Given the description of an element on the screen output the (x, y) to click on. 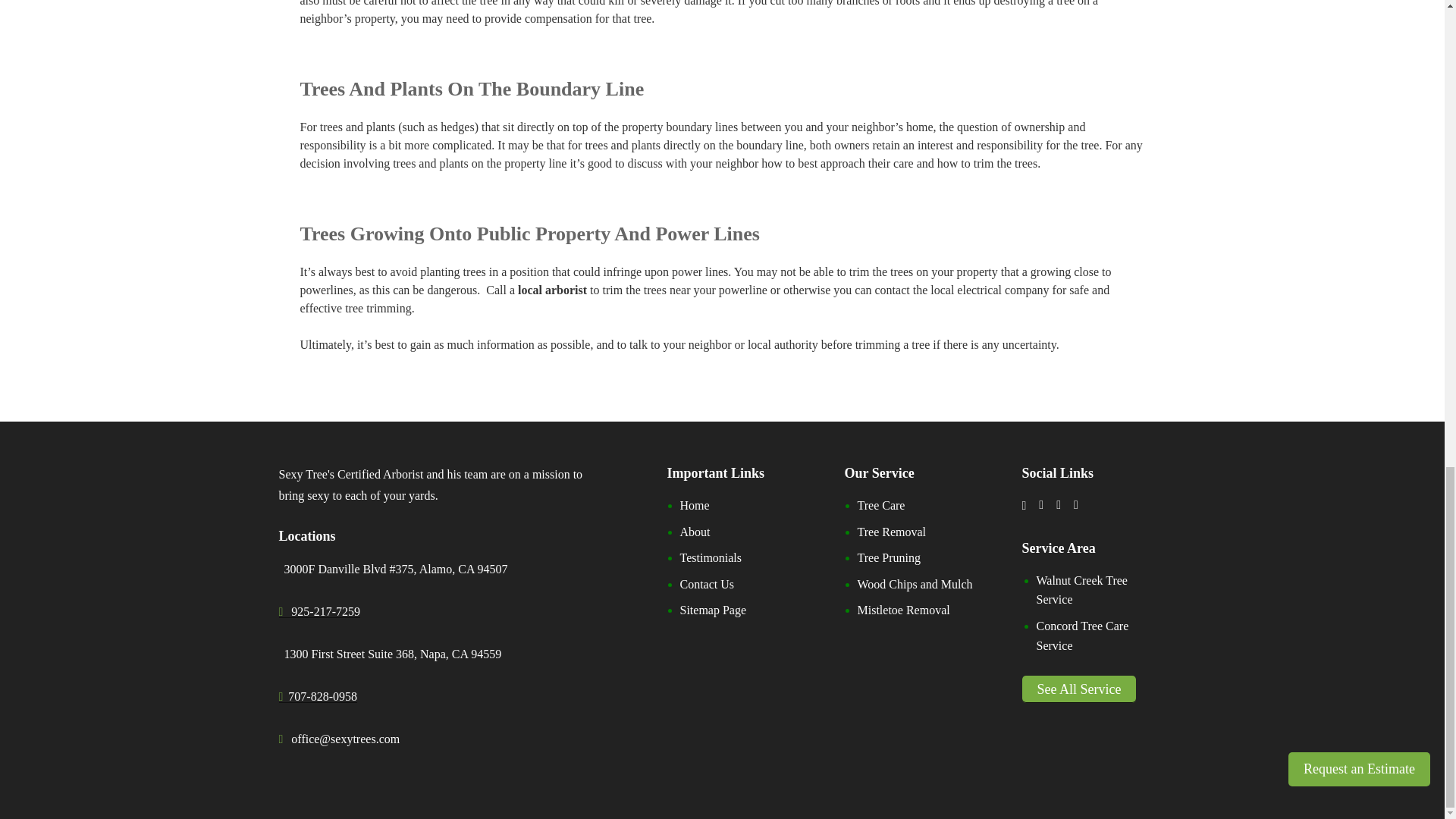
Home (694, 504)
About (694, 531)
925-217-7259 (320, 611)
707-828-0958 (318, 706)
Testimonials (710, 557)
